Given the description of an element on the screen output the (x, y) to click on. 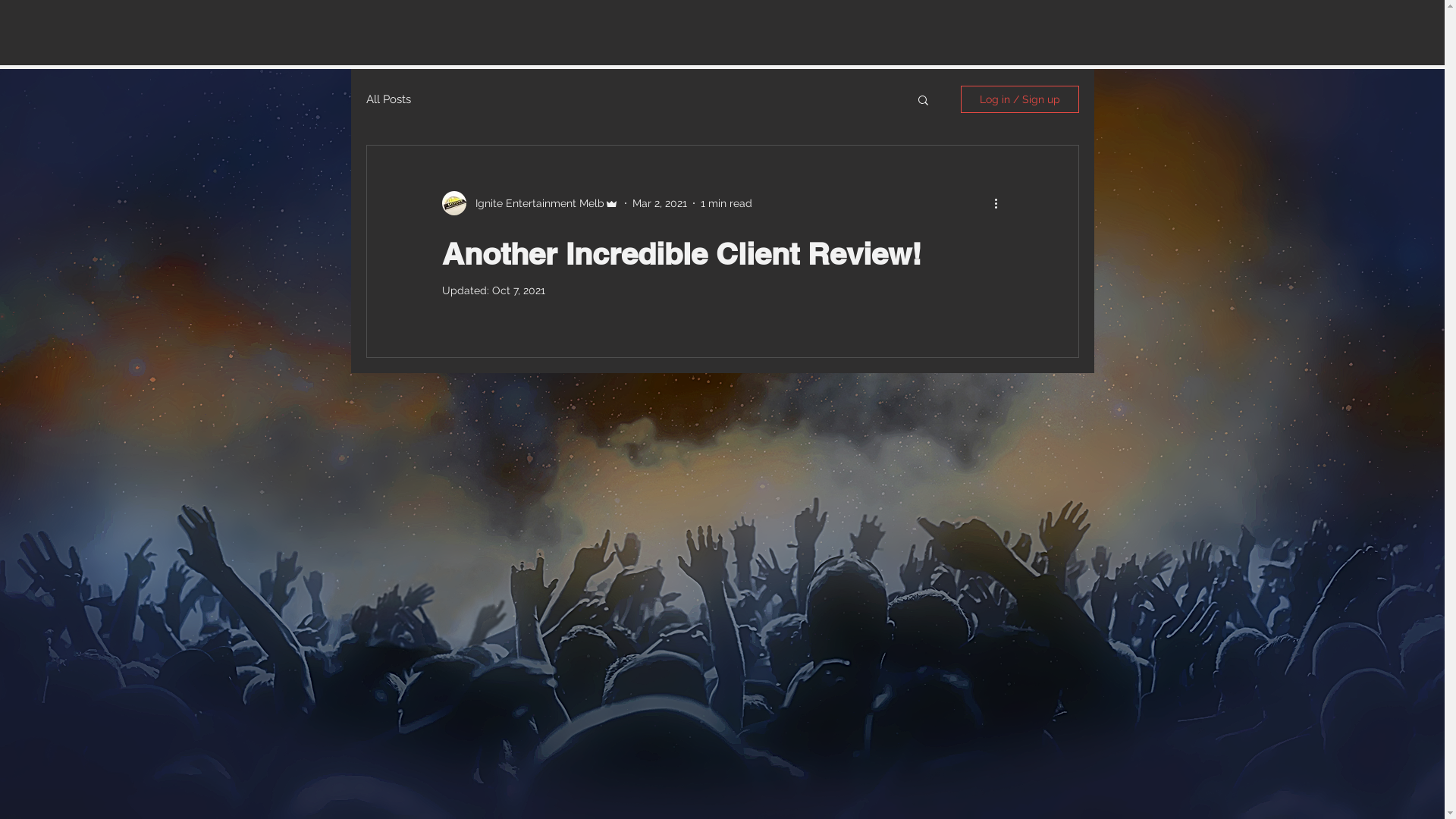
Log in / Sign up Element type: text (1019, 98)
All Posts Element type: text (387, 99)
